Given the description of an element on the screen output the (x, y) to click on. 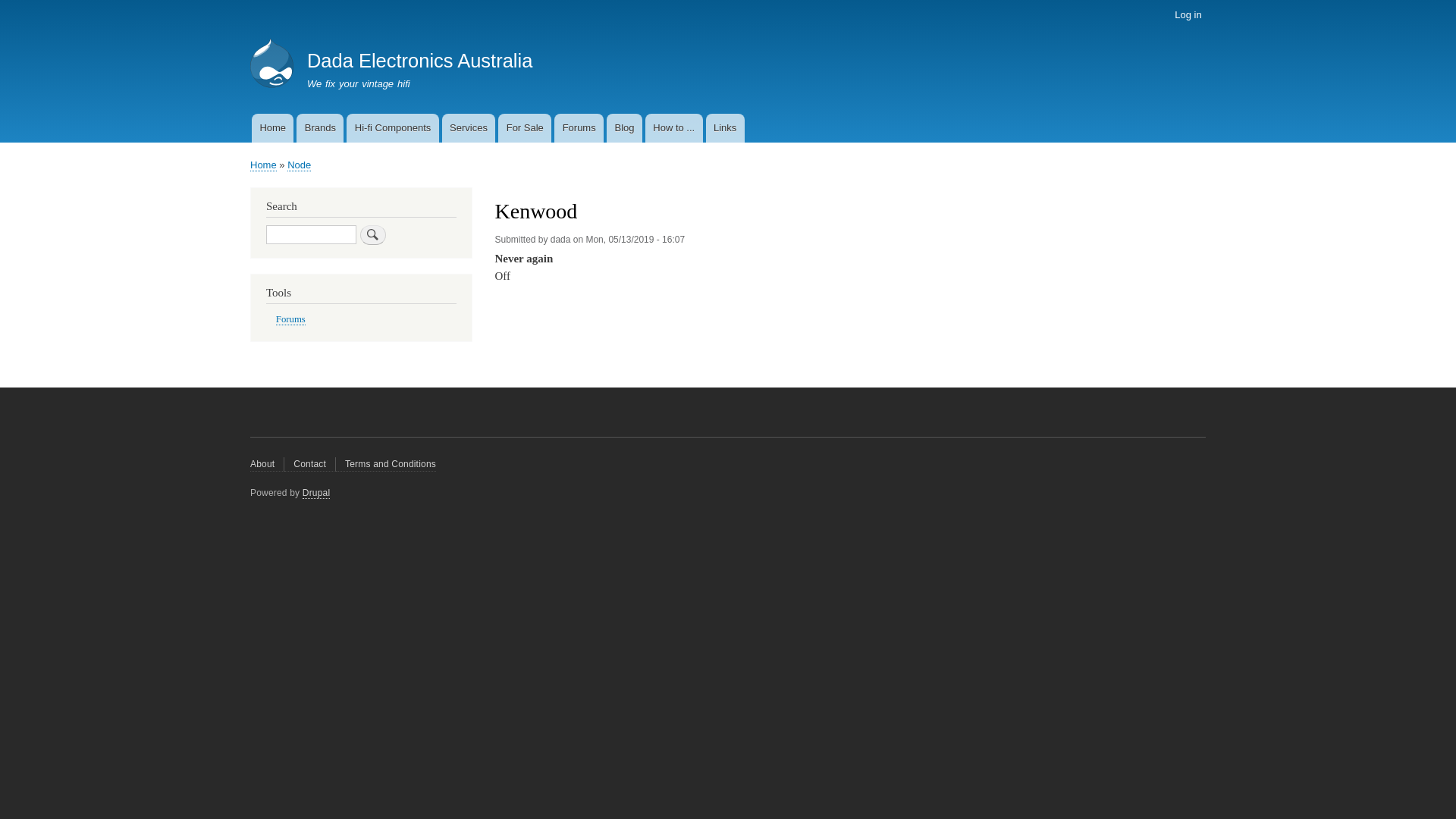
Hi-fi Components Element type: text (392, 127)
Node Element type: text (298, 165)
Brands Element type: text (319, 127)
Dada Electronics Australia Element type: text (419, 60)
Forums Element type: text (290, 319)
About Element type: text (267, 464)
Services Element type: text (468, 127)
Home Element type: text (263, 165)
For Sale Element type: text (524, 127)
How to ... Element type: text (673, 127)
Search Element type: text (372, 234)
Contact Element type: text (309, 464)
Log in Element type: text (1188, 15)
Terms and Conditions Element type: text (385, 464)
Drupal Element type: text (316, 492)
Links Element type: text (725, 127)
Home Element type: text (272, 127)
Skip to main content Element type: text (728, 1)
Enter the terms you wish to search for. Element type: hover (311, 234)
Blog Element type: text (624, 127)
Forums Element type: text (578, 127)
